Given the description of an element on the screen output the (x, y) to click on. 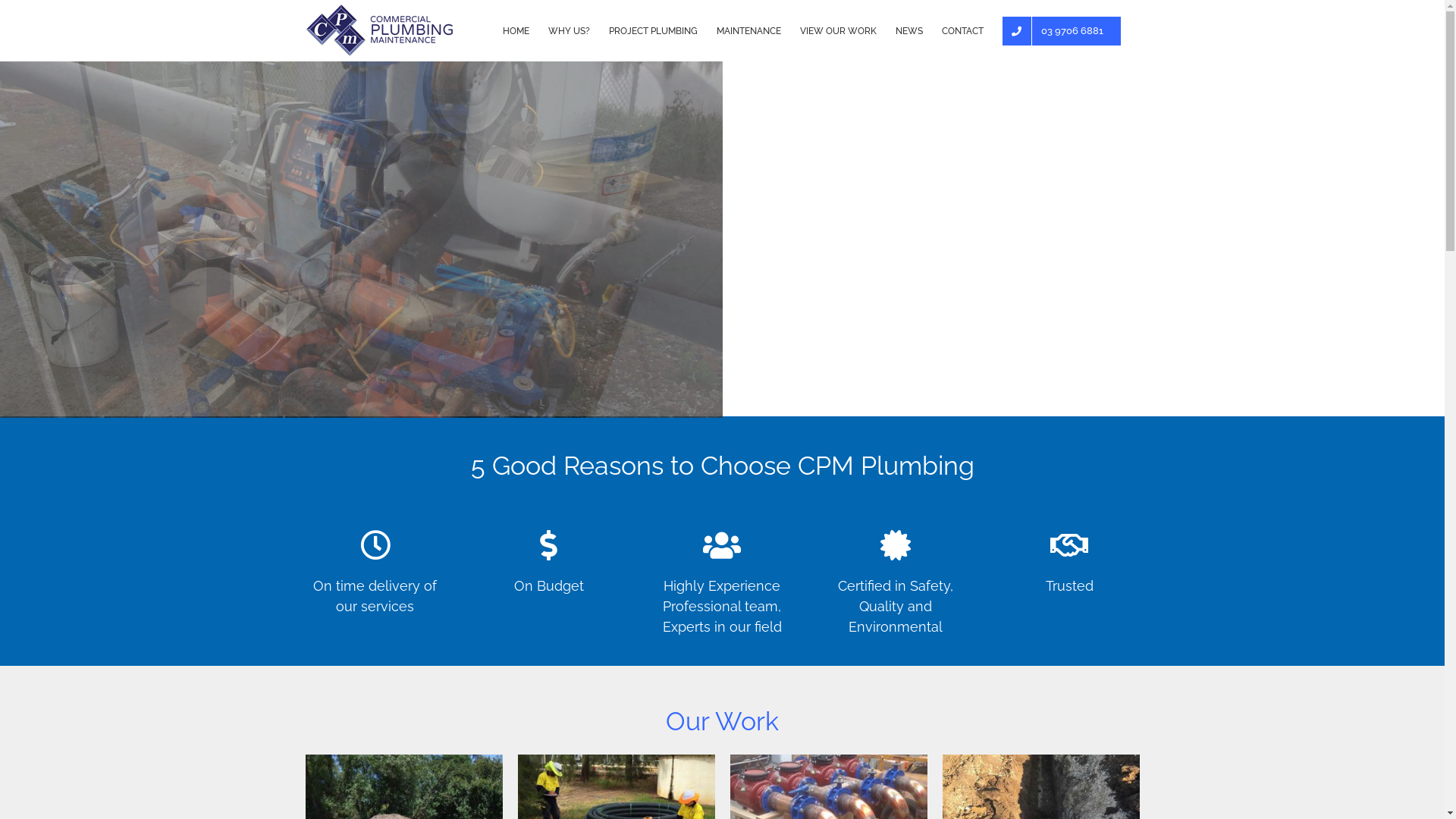
WHY US? Element type: text (568, 30)
HOME Element type: text (515, 30)
CONTACT Element type: text (962, 30)
MAINTENANCE Element type: text (747, 30)
PROJECT PLUMBING Element type: text (652, 30)
CONTACT US Element type: text (263, 300)
VIEW OUR WORK Element type: text (837, 30)
03 9706 6881 Element type: text (1061, 30)
NEWS Element type: text (908, 30)
EXPLORE OUR SERVICES Element type: text (107, 300)
